Given the description of an element on the screen output the (x, y) to click on. 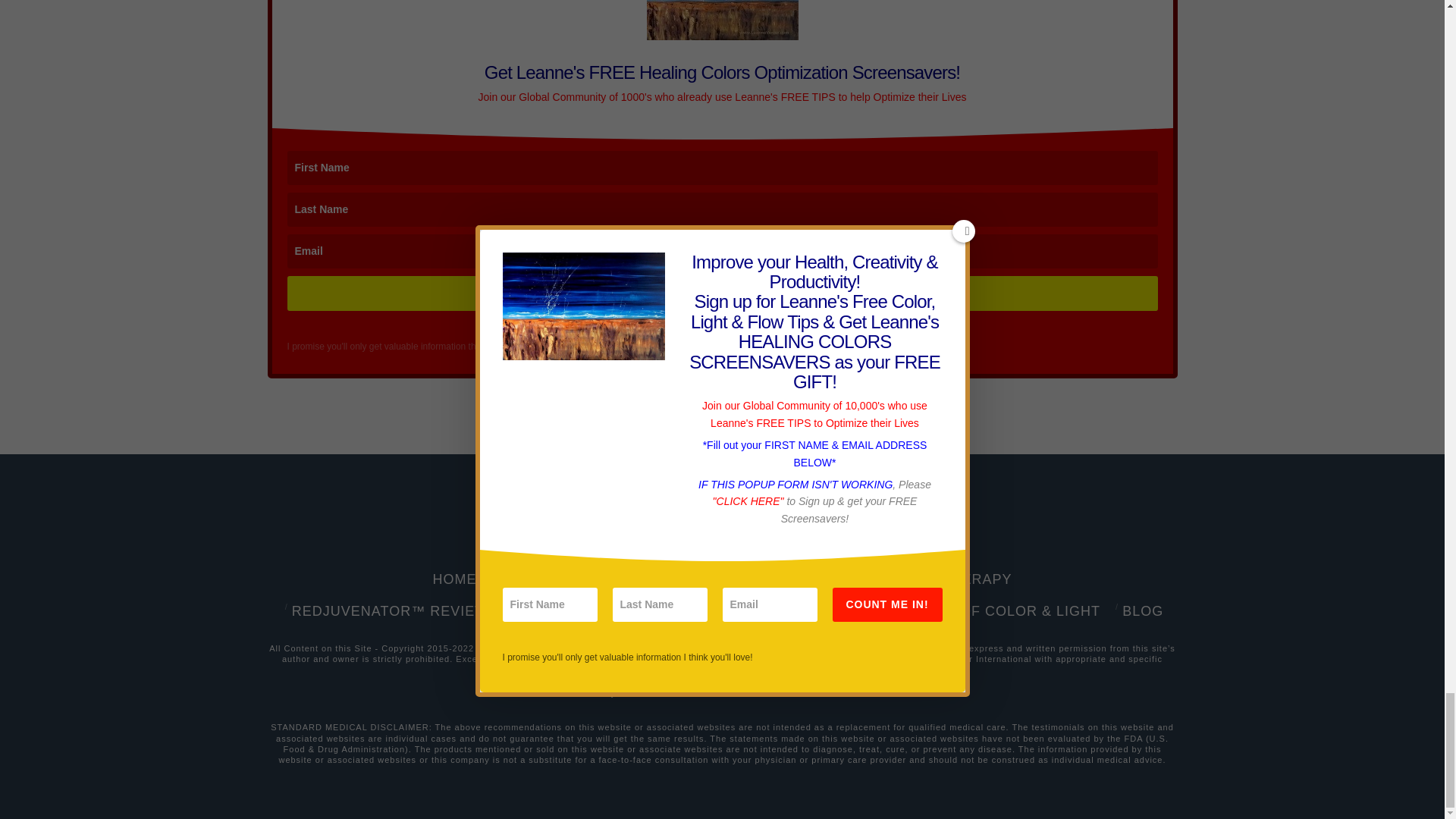
Pinterest (913, 526)
YouTube (785, 526)
LinkedIn (721, 526)
Facebook (531, 526)
Instagram (849, 526)
Twitter (595, 526)
